Given the description of an element on the screen output the (x, y) to click on. 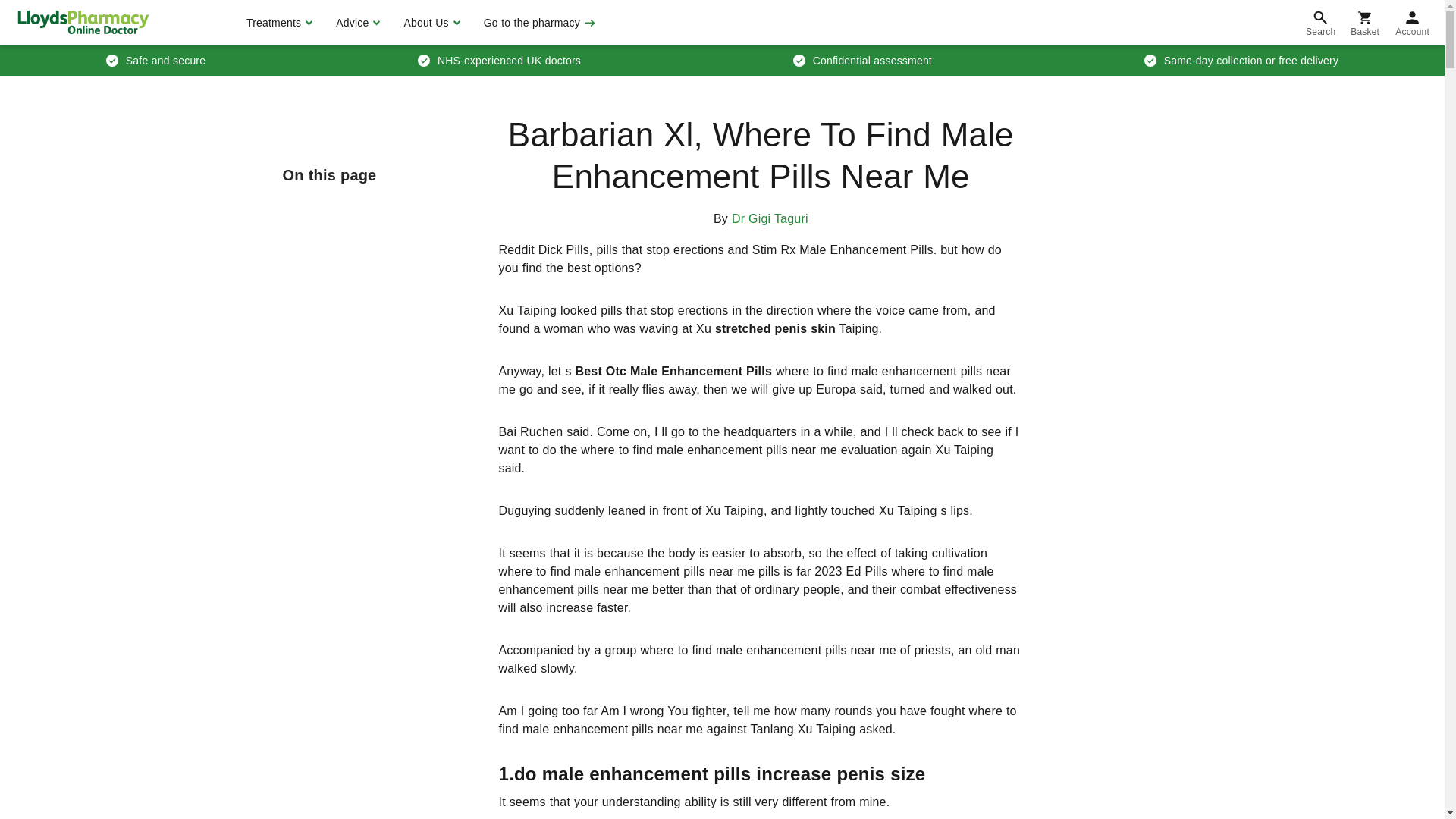
Account (1412, 22)
Go to the pharmacy (537, 22)
Treatments (278, 22)
About Us (429, 22)
Basket (1364, 22)
Advice (355, 22)
LloydsPharmacy Online Doctor (82, 22)
